Given the description of an element on the screen output the (x, y) to click on. 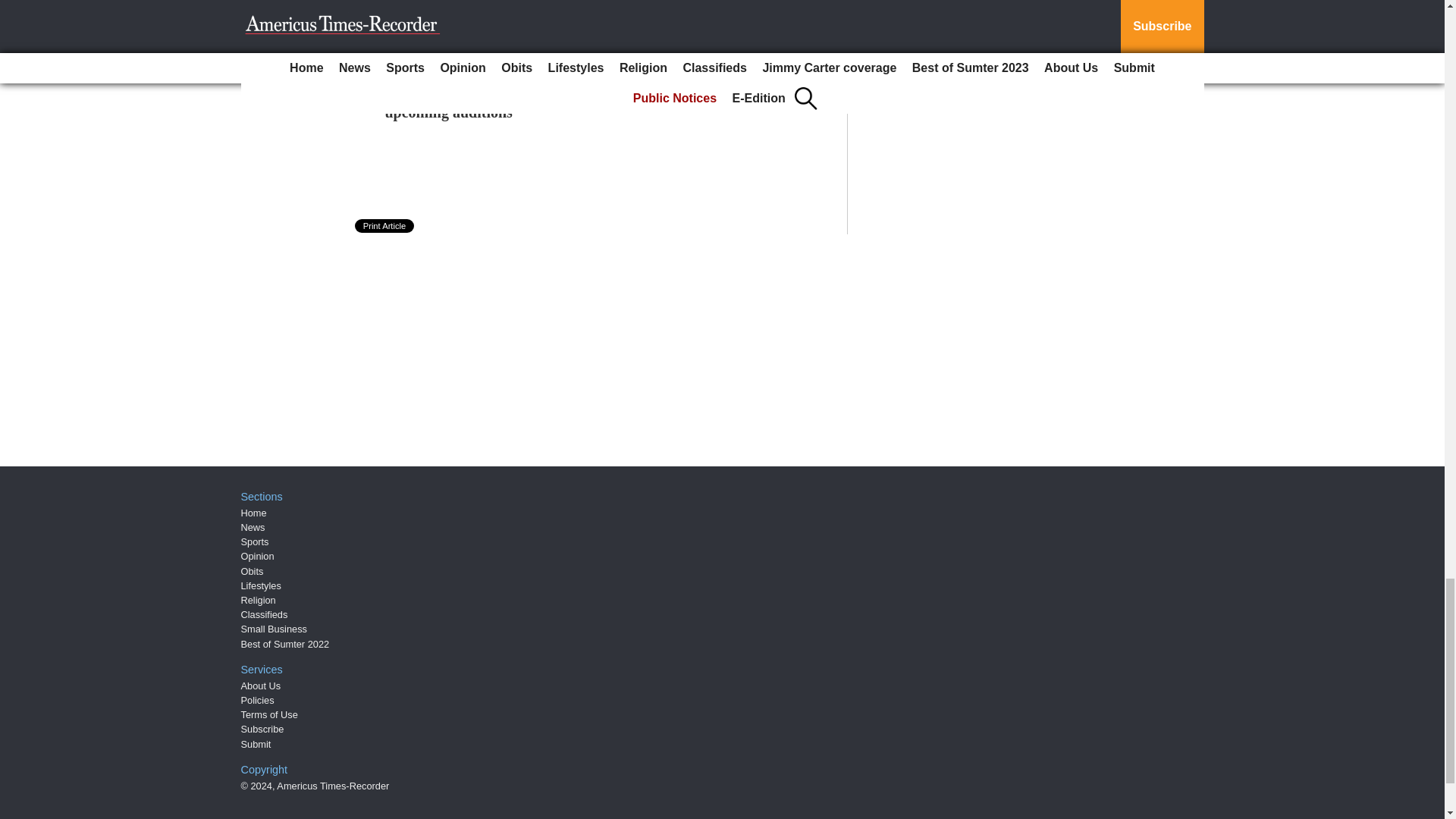
Sports (255, 541)
Double shooting with one dead (484, 42)
The Sumter Players announce upcoming auditions (482, 102)
The Sumter Players announce upcoming auditions (482, 102)
News (252, 527)
Print Article (384, 225)
Double shooting with one dead (484, 42)
Opinion (258, 555)
Home (253, 512)
